Given the description of an element on the screen output the (x, y) to click on. 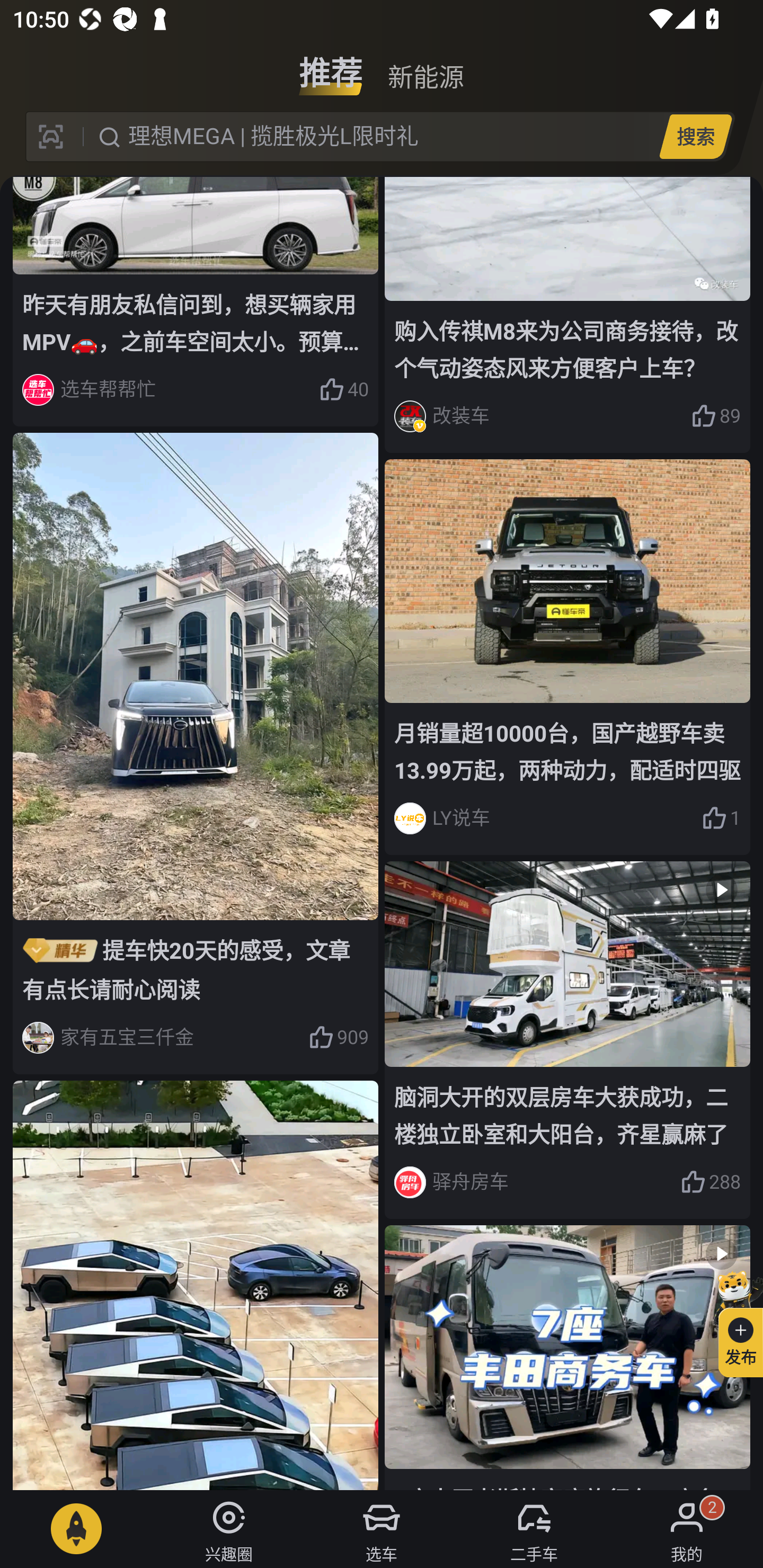
推荐 (330, 65)
新能源 (425, 65)
搜索 (695, 136)
购入传祺M8来为公司商务接待，改个气动姿态风来方便客户上车？ 改装车 89 (567, 315)
40 (343, 389)
89 (715, 416)
  提车快20天的感受，文章有点长请耐心阅读 家有五宝三仟金 909 (195, 753)
月销量超10000台，国产越野车卖13.99万起，两种动力，配适时四驱 LY说车 1 (567, 656)
1 (720, 818)
 脑洞大开的双层房车大获成功，二楼独立卧室和大阳台，齐星赢麻了 驿舟房车 288 (567, 1039)
909 (338, 1037)
288 (710, 1181)
 7座丰田考斯特家庭旅行车，商务车，成都丰田考斯特7座房车 (567, 1356)
发布 (732, 1321)
 兴趣圈 (228, 1528)
 选车 (381, 1528)
 二手车 (533, 1528)
 我的 (686, 1528)
